Given the description of an element on the screen output the (x, y) to click on. 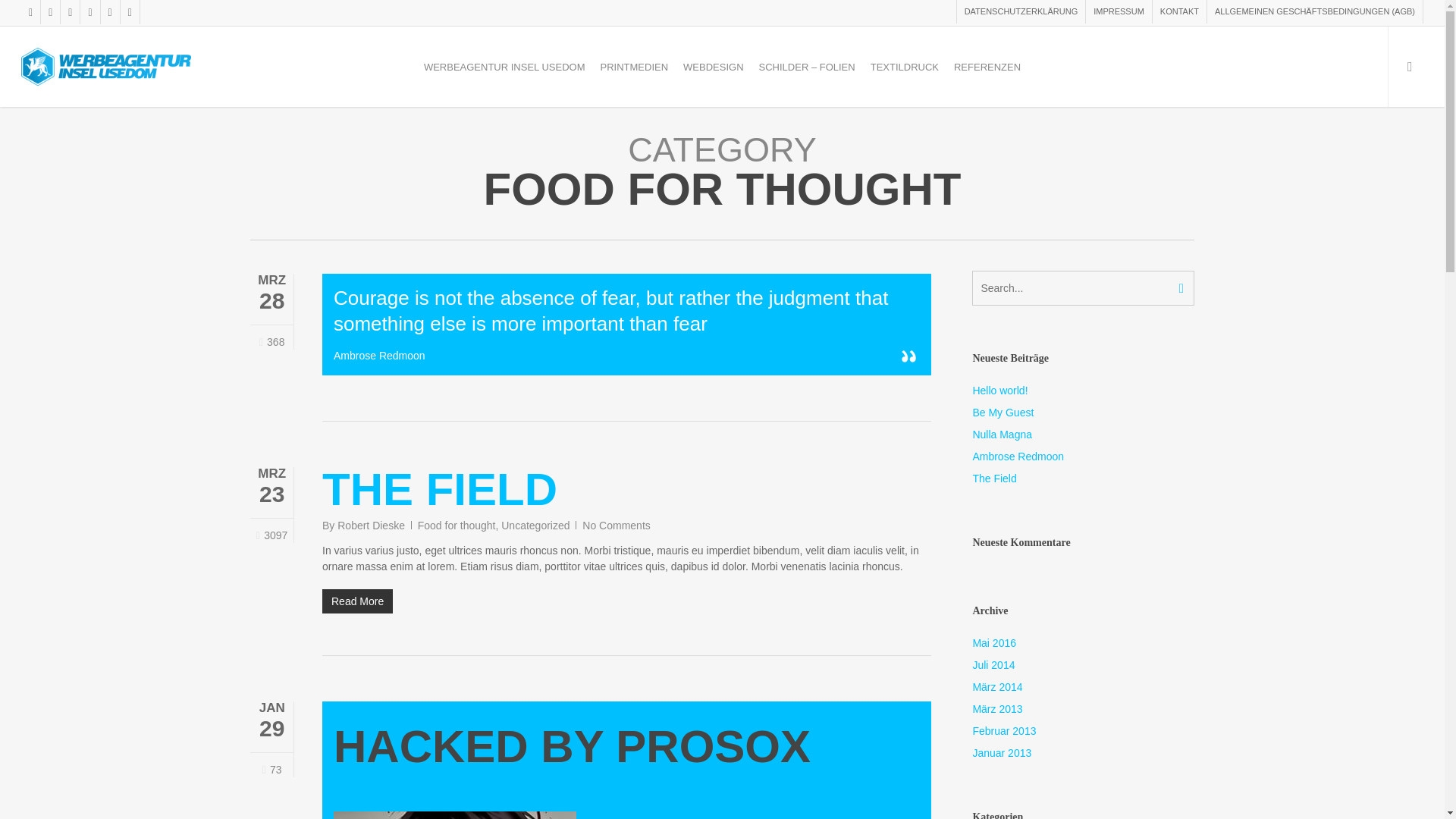
3097 (271, 535)
Uncategorized (534, 525)
Love this (271, 535)
PRINTMEDIEN (634, 66)
No Comments (615, 525)
368 (271, 342)
Food for thought (456, 525)
IMPRESSUM (1117, 11)
Read More (626, 601)
WERBEAGENTUR INSEL USEDOM (504, 66)
REFERENZEN (986, 66)
73 (272, 769)
THE FIELD (439, 489)
Love this (271, 342)
Love this (272, 769)
